Given the description of an element on the screen output the (x, y) to click on. 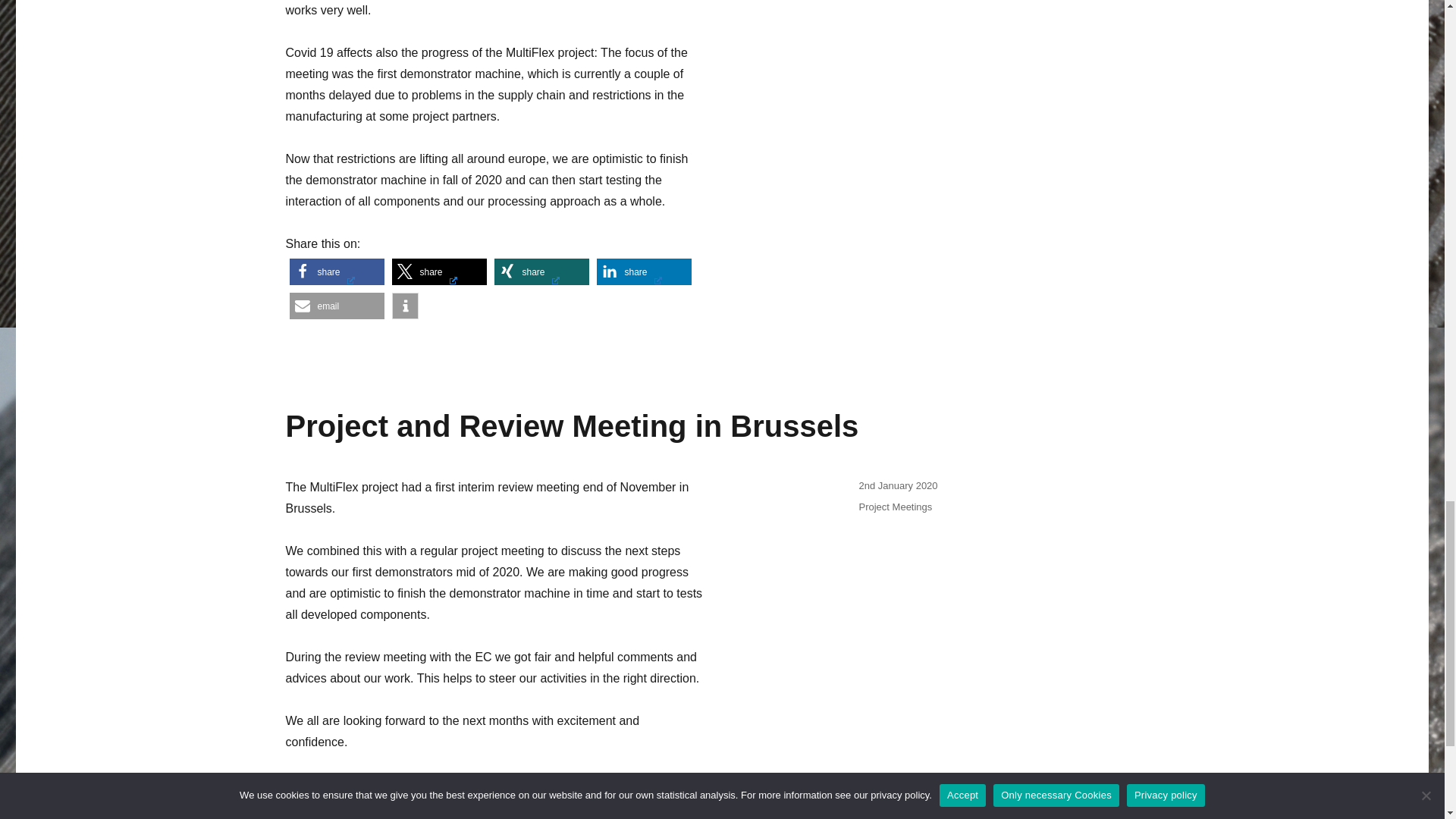
share  (438, 271)
share  (542, 809)
Share on X (438, 809)
share  (336, 271)
email  (336, 305)
Share on XING (542, 809)
share  (642, 809)
Share on LinkedIn (642, 809)
Share on Facebook (336, 271)
share  (542, 271)
Project and Review Meeting in Brussels (572, 426)
Share on LinkedIn (642, 271)
Project Meetings (895, 506)
2nd January 2020 (898, 485)
